Given the description of an element on the screen output the (x, y) to click on. 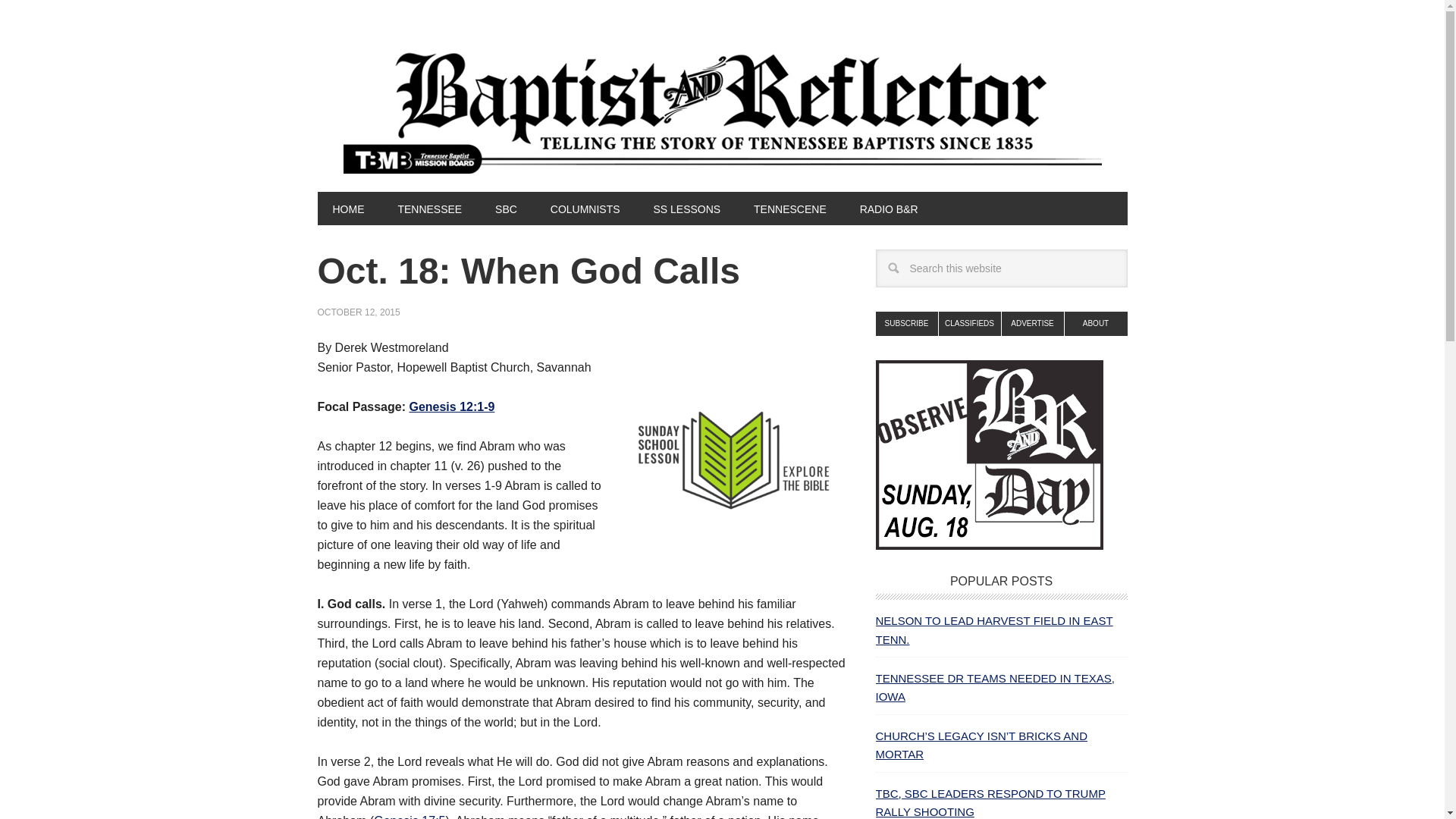
Genesis 17:5 (409, 816)
HOME (347, 208)
ABOUT (1095, 323)
CLASSIFIEDS (970, 323)
COLUMNISTS (584, 208)
ADVERTISE (1032, 323)
TENNESSEE (429, 208)
TENNESSEE DR TEAMS NEEDED IN TEXAS, IOWA (994, 686)
TENNESCENE (789, 208)
SUBSCRIBE (906, 323)
SS LESSONS (686, 208)
TBC, SBC LEADERS RESPOND TO TRUMP RALLY SHOOTING (990, 802)
